Given the description of an element on the screen output the (x, y) to click on. 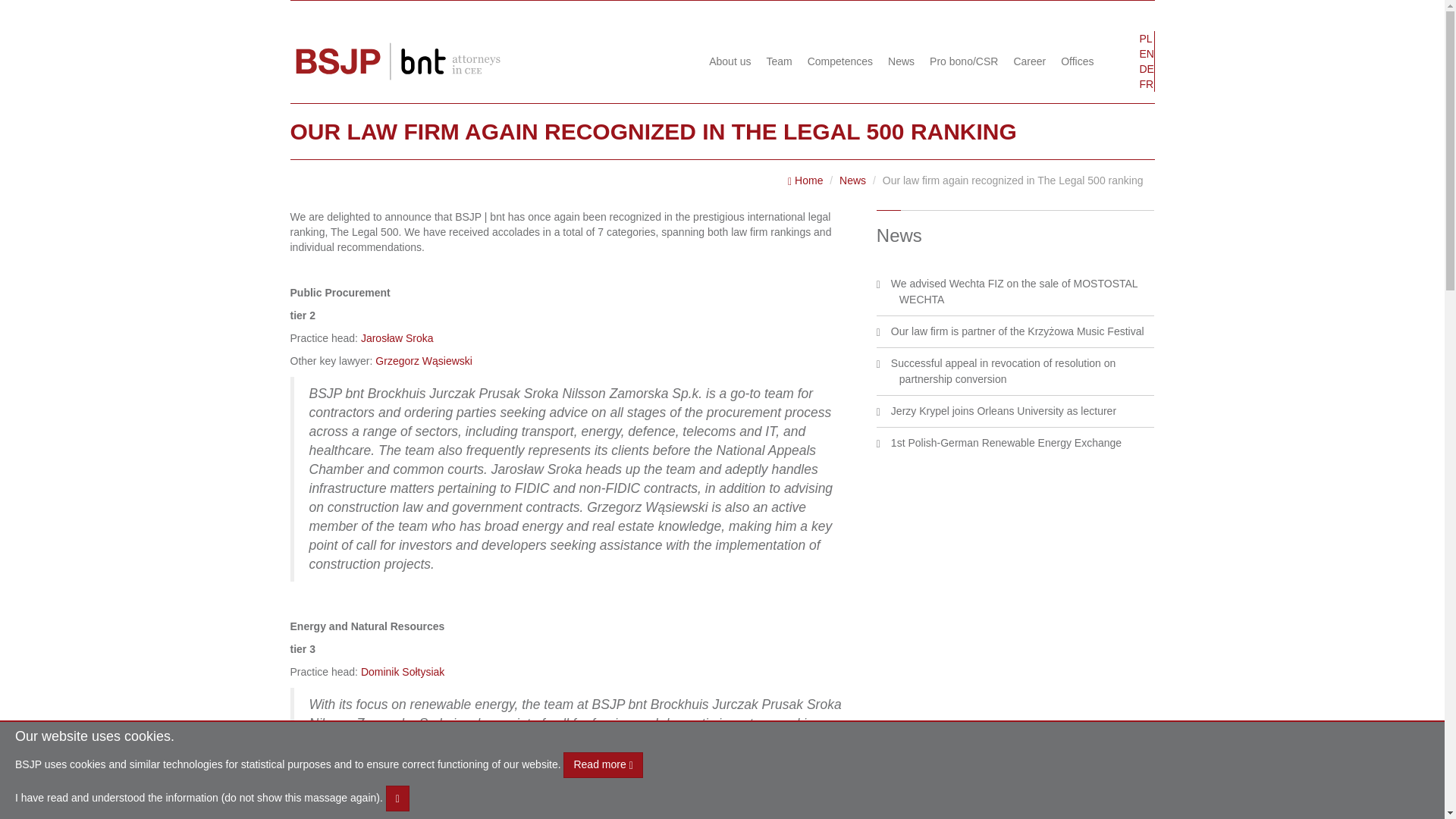
PL (1142, 38)
We advised Wechta FIZ on the sale of MOSTOSTAL WECHTA (1014, 291)
Polish version (1142, 38)
FR (1142, 83)
We advised Wechta FIZ on the sale of MOSTOSTAL WECHTA (1014, 291)
1st Polish-German Renewable Energy Exchange (1006, 442)
Jerzy Krypel joins Orleans University as lecturer (1003, 410)
Competences (839, 61)
